Given the description of an element on the screen output the (x, y) to click on. 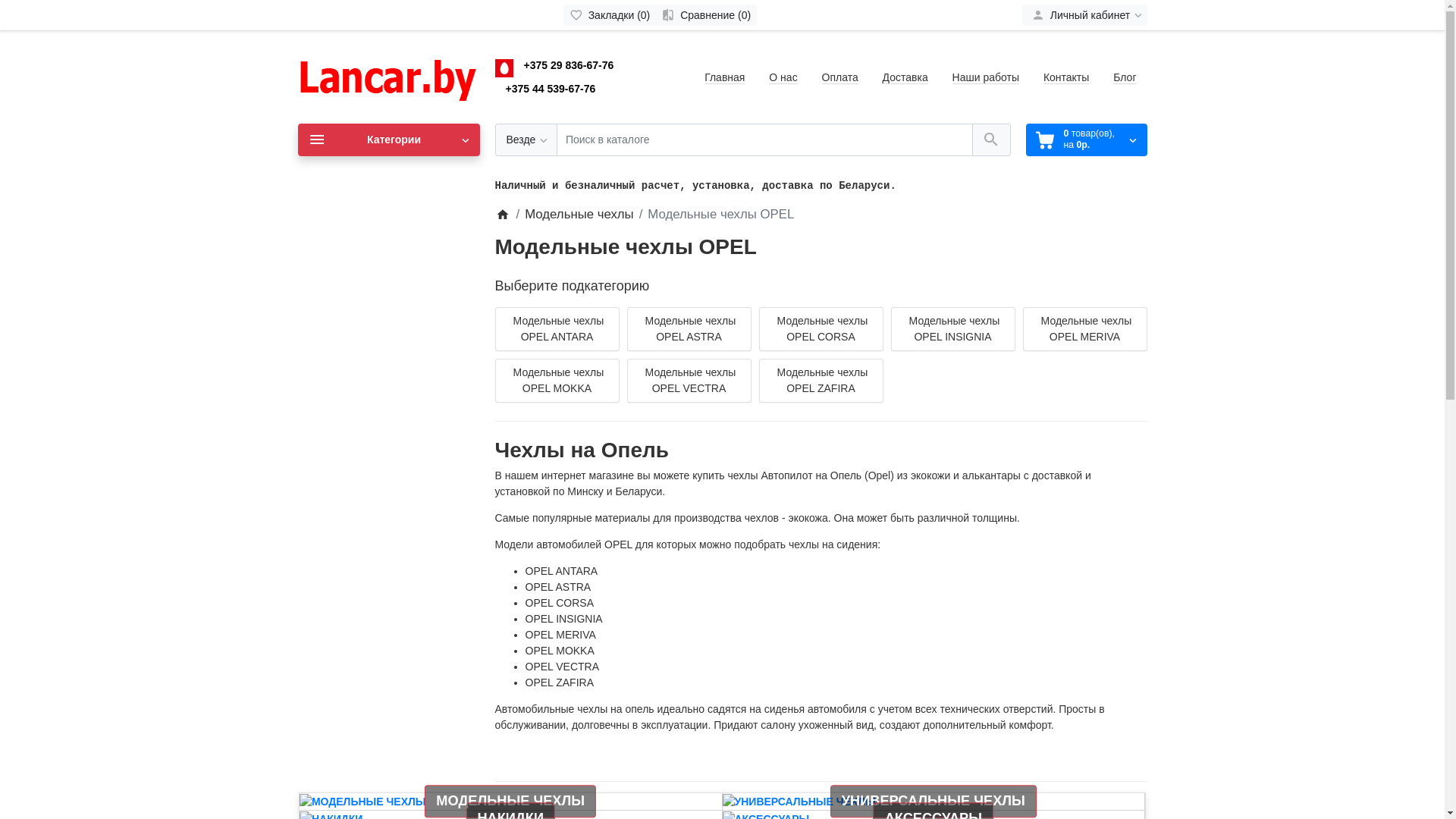
+375 44 539-67-76 Element type: text (550, 88)
+375 29 836-67-76 Element type: text (568, 65)
